Given the description of an element on the screen output the (x, y) to click on. 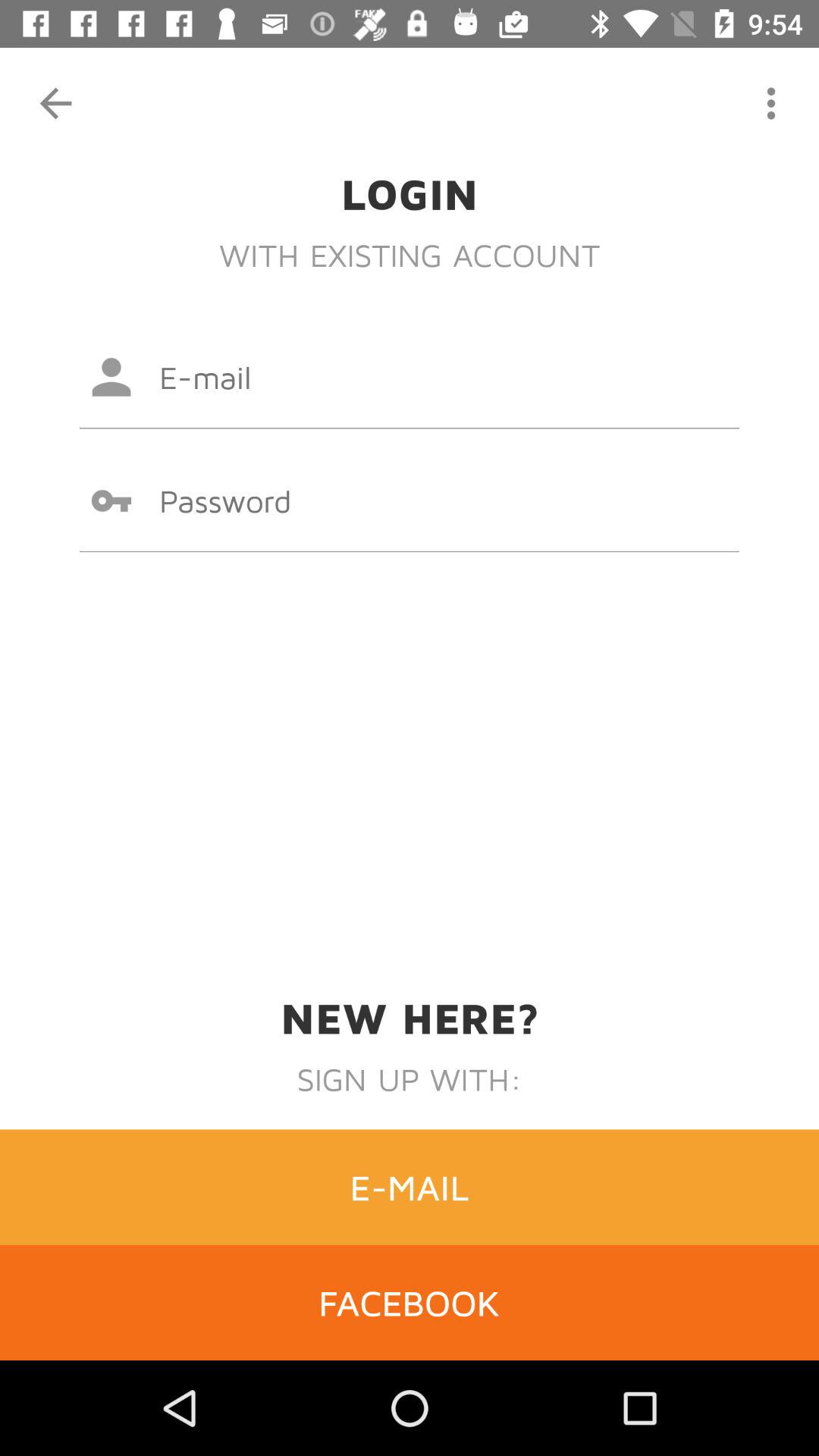
tap the icon above new here? (409, 500)
